Given the description of an element on the screen output the (x, y) to click on. 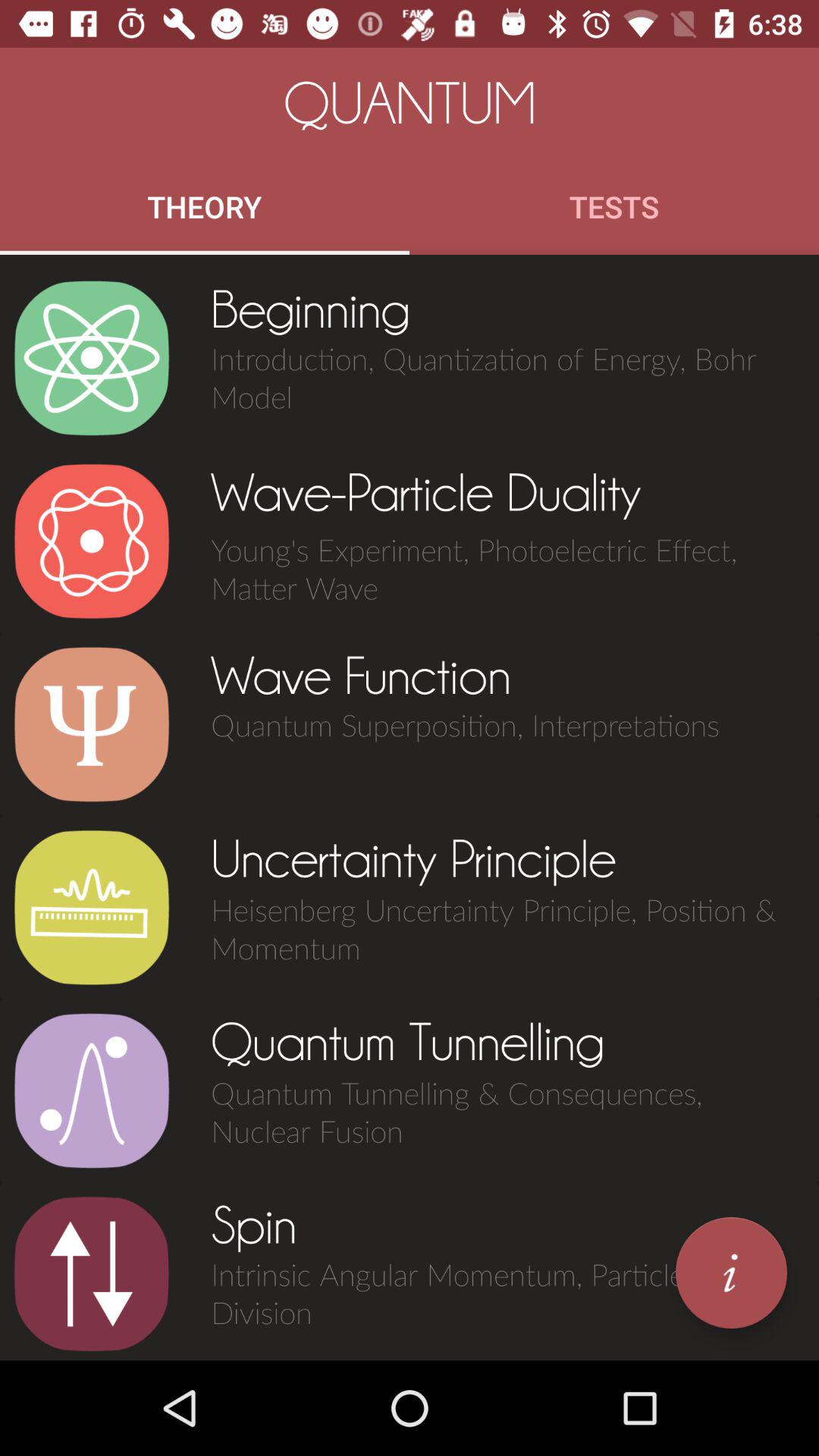
more info (731, 1272)
